Given the description of an element on the screen output the (x, y) to click on. 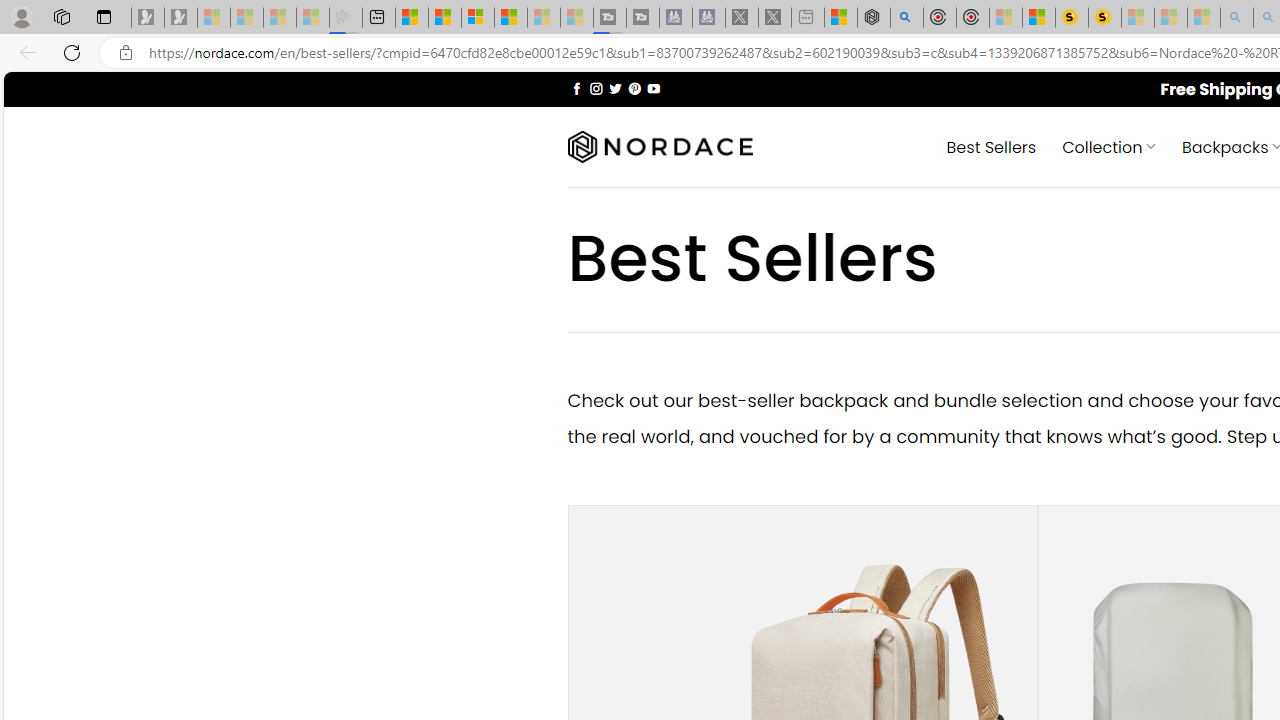
Follow on Twitter (615, 88)
Follow on YouTube (653, 88)
Follow on Facebook (576, 88)
amazon - Search - Sleeping (1237, 17)
  Best Sellers (990, 146)
